Given the description of an element on the screen output the (x, y) to click on. 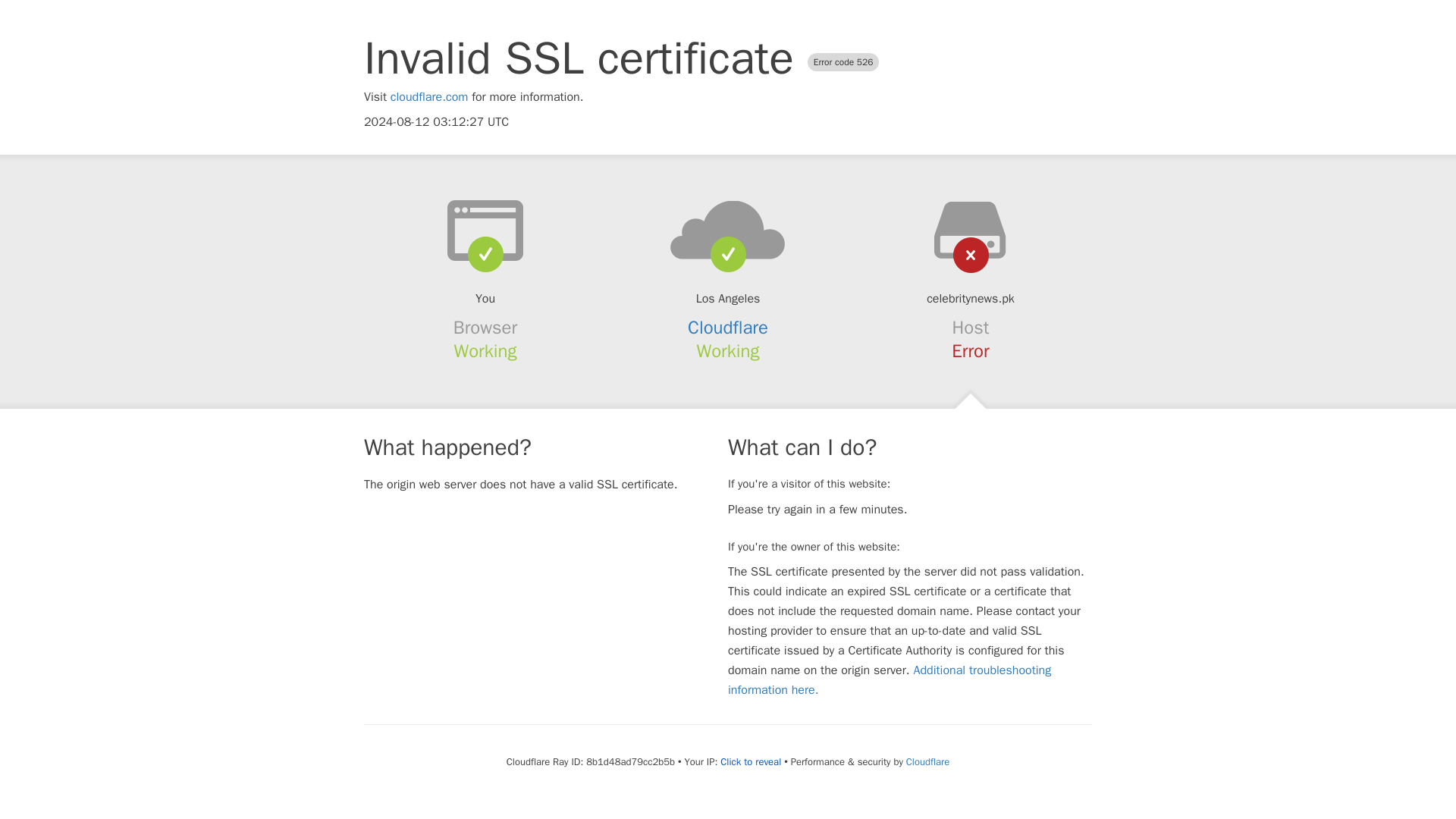
Cloudflare (927, 761)
Cloudflare (727, 327)
cloudflare.com (429, 96)
Click to reveal (750, 762)
Additional troubleshooting information here. (889, 679)
